Given the description of an element on the screen output the (x, y) to click on. 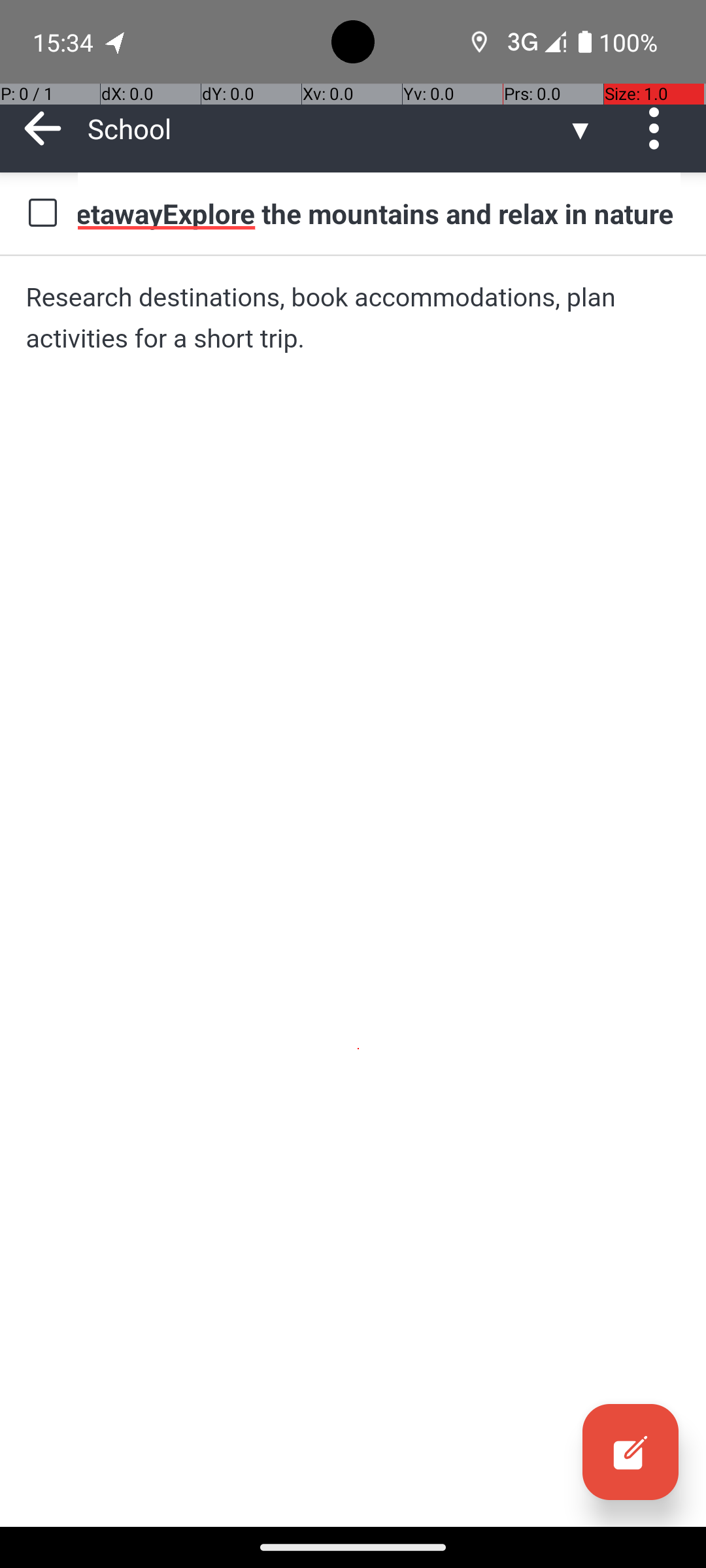
Plan Weekend GetawayExplore the mountains and relax in nature Element type: android.widget.EditText (378, 213)
School Element type: android.widget.TextView (326, 128)
Research destinations, book accommodations, plan activities for a short trip. Element type: android.widget.TextView (352, 317)
